Given the description of an element on the screen output the (x, y) to click on. 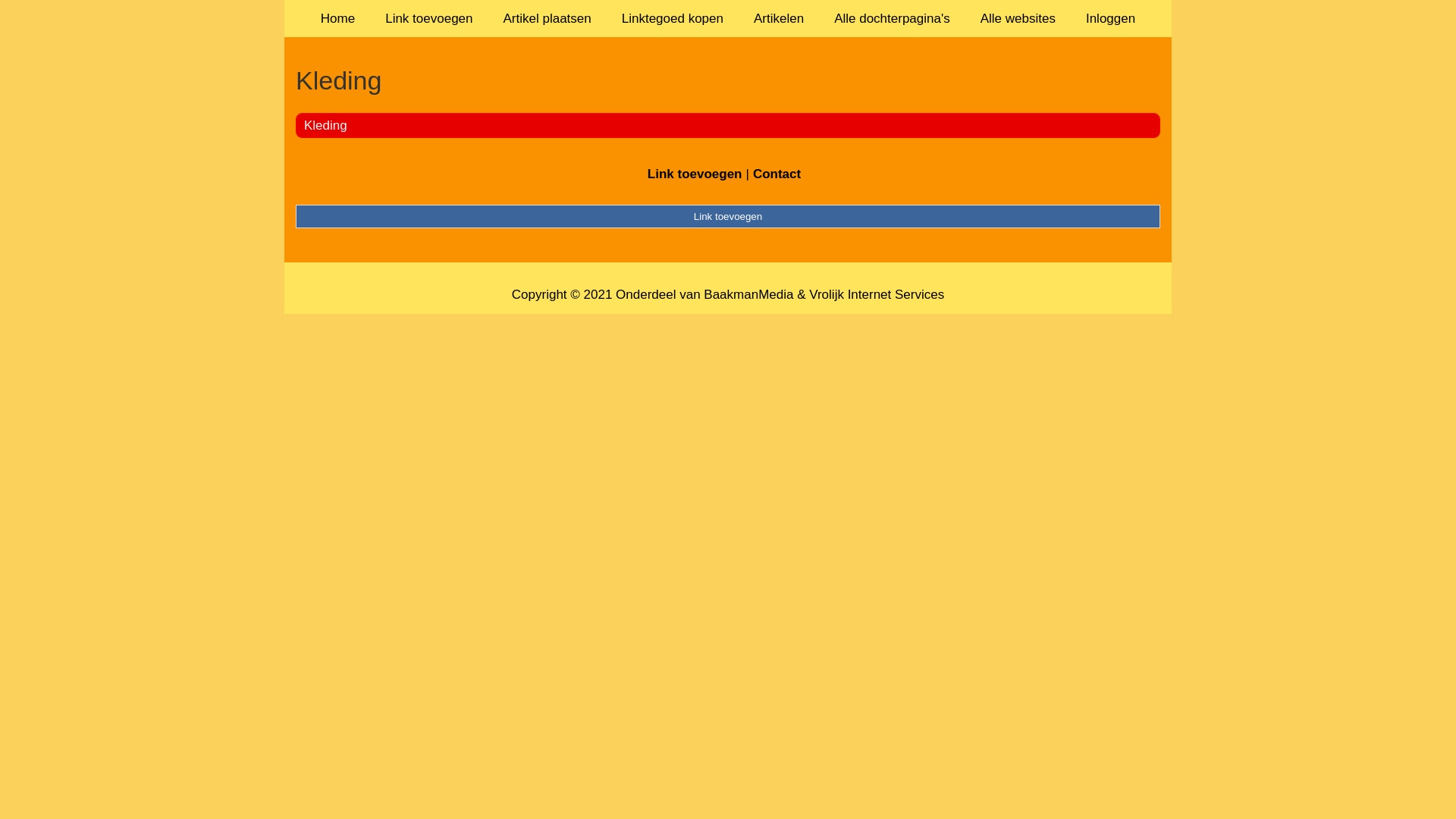
Artikel plaatsen Element type: text (547, 18)
Home Element type: text (337, 18)
Vrolijk Internet Services Element type: text (876, 294)
Link toevoegen Element type: text (727, 215)
Linktegoed kopen Element type: text (672, 18)
Artikelen Element type: text (778, 18)
Alle websites Element type: text (1017, 18)
BaakmanMedia Element type: text (748, 294)
Alle dochterpagina's Element type: text (892, 18)
Kleding Element type: text (727, 80)
Link toevoegen Element type: text (694, 173)
Link toevoegen Element type: text (428, 18)
Inloggen Element type: text (1110, 18)
Kleding Element type: text (325, 125)
Contact Element type: text (776, 173)
